Given the description of an element on the screen output the (x, y) to click on. 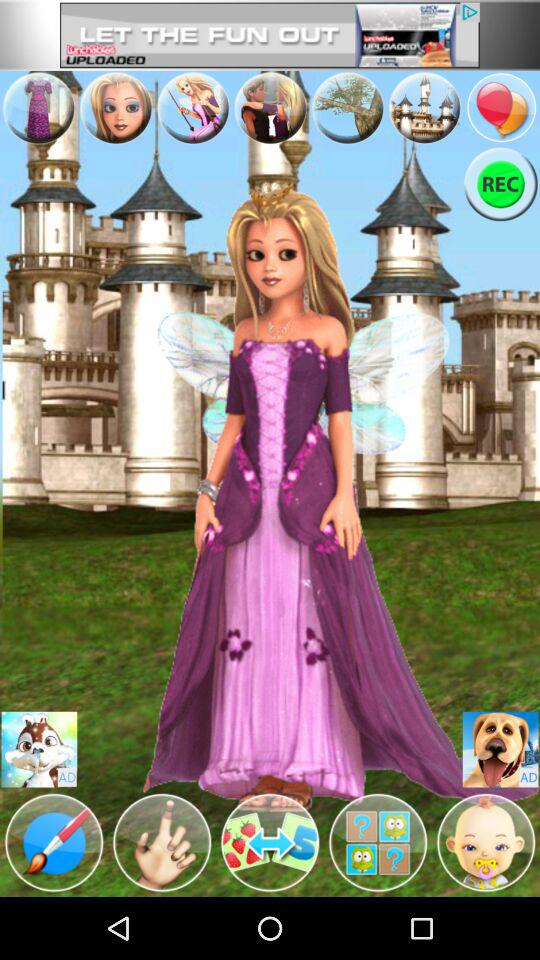
choose the image (347, 107)
